Given the description of an element on the screen output the (x, y) to click on. 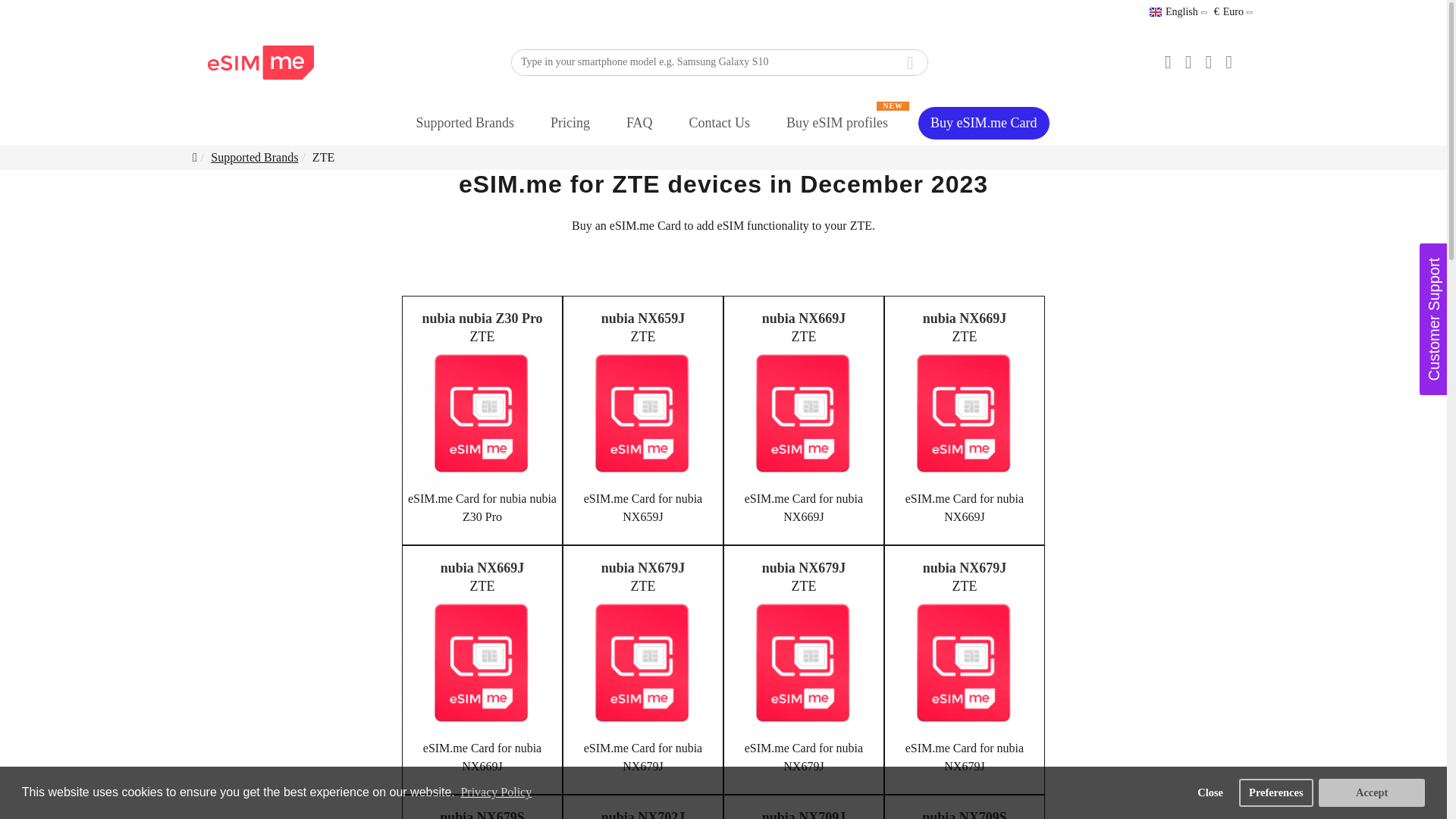
eSIM.me Store (261, 62)
eSIM.me Card for nubia  NX669J   (964, 409)
Preferences (1276, 792)
eSIM.me Card for nubia  nubia  Z30 Pro   (482, 409)
English (1174, 11)
Contact Us (719, 122)
Supported Brands (464, 122)
Close (1210, 792)
Buy eSIM.me Card (983, 122)
Pricing (570, 122)
eSIM.me Card for nubia  NX669J   (803, 409)
eSIM.me Card for nubia  NX659J   (642, 409)
FAQ (639, 122)
eSIM.me Card for nubia  NX679J   (642, 659)
eSIM.me Card for nubia  NX669J   (482, 659)
